Given the description of an element on the screen output the (x, y) to click on. 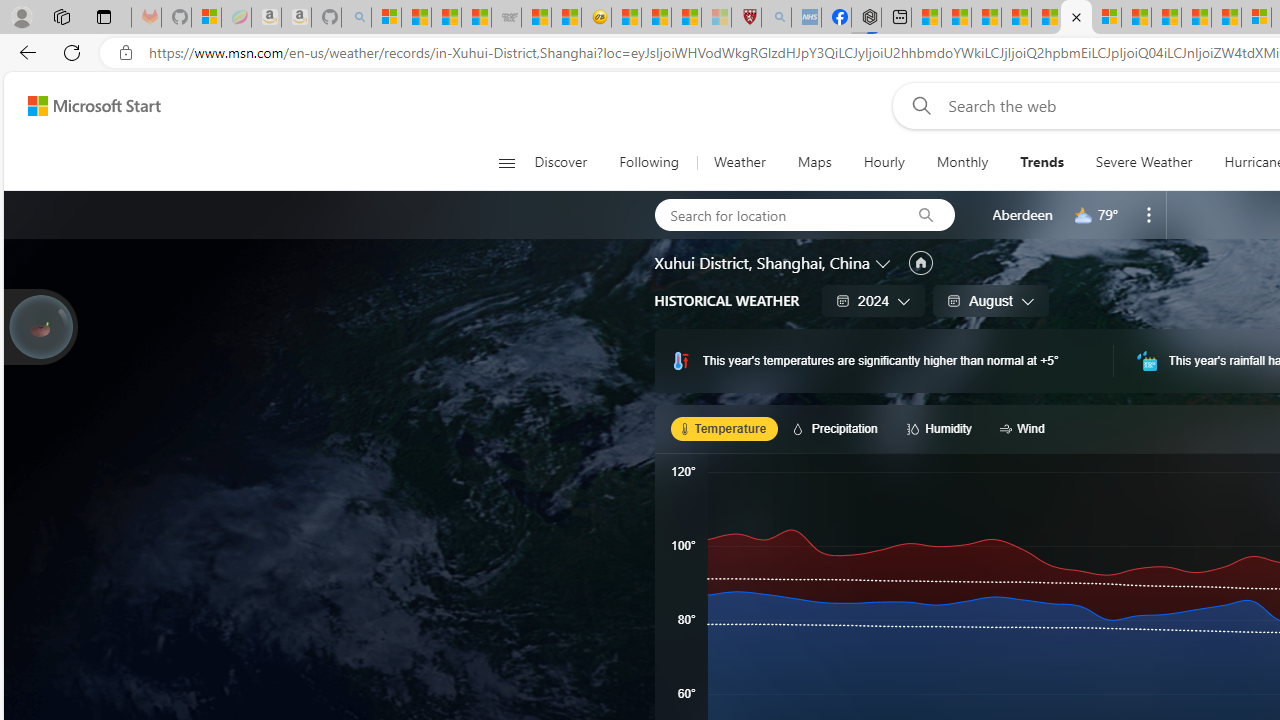
Wind (1025, 428)
12 Popular Science Lies that Must be Corrected - Sleeping (715, 17)
Join us in planting real trees to help our planet! (40, 325)
